Given the description of an element on the screen output the (x, y) to click on. 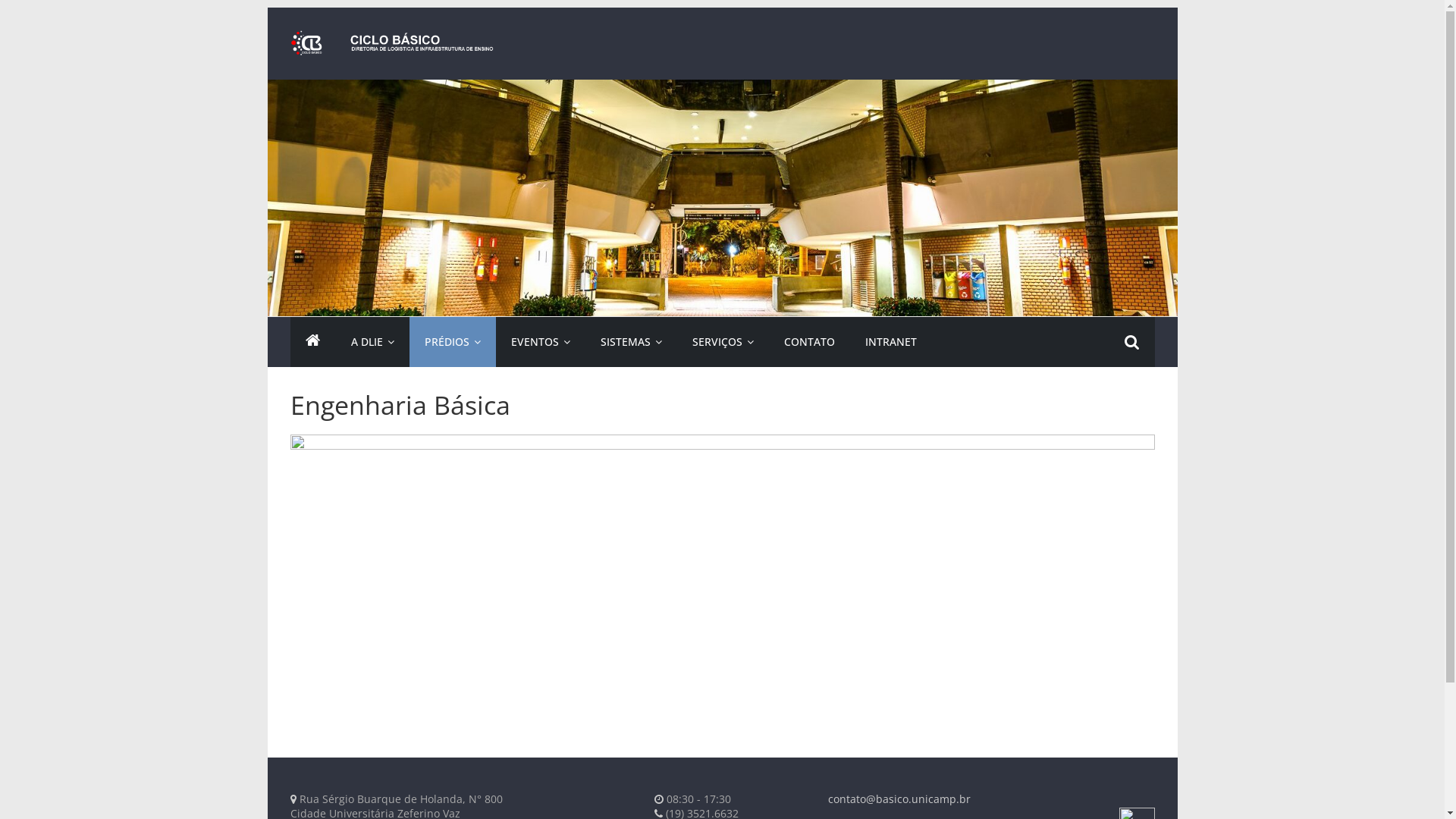
EVENTOS Element type: text (540, 341)
INTRANET Element type: text (890, 341)
SISTEMAS Element type: text (631, 341)
CONTATO Element type: text (809, 341)
A DLIE Element type: text (371, 341)
